Given the description of an element on the screen output the (x, y) to click on. 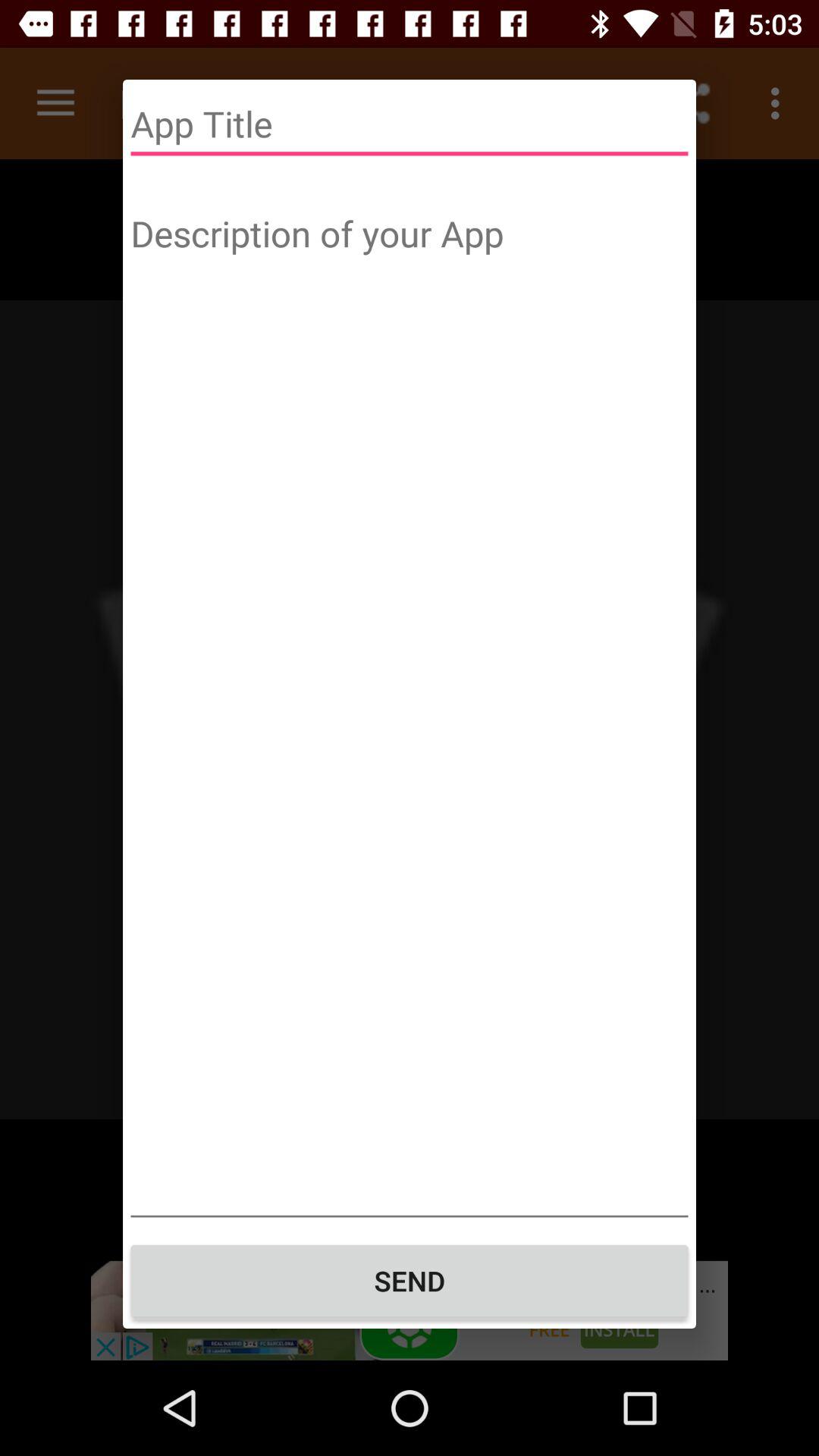
scroll until send icon (409, 1280)
